Given the description of an element on the screen output the (x, y) to click on. 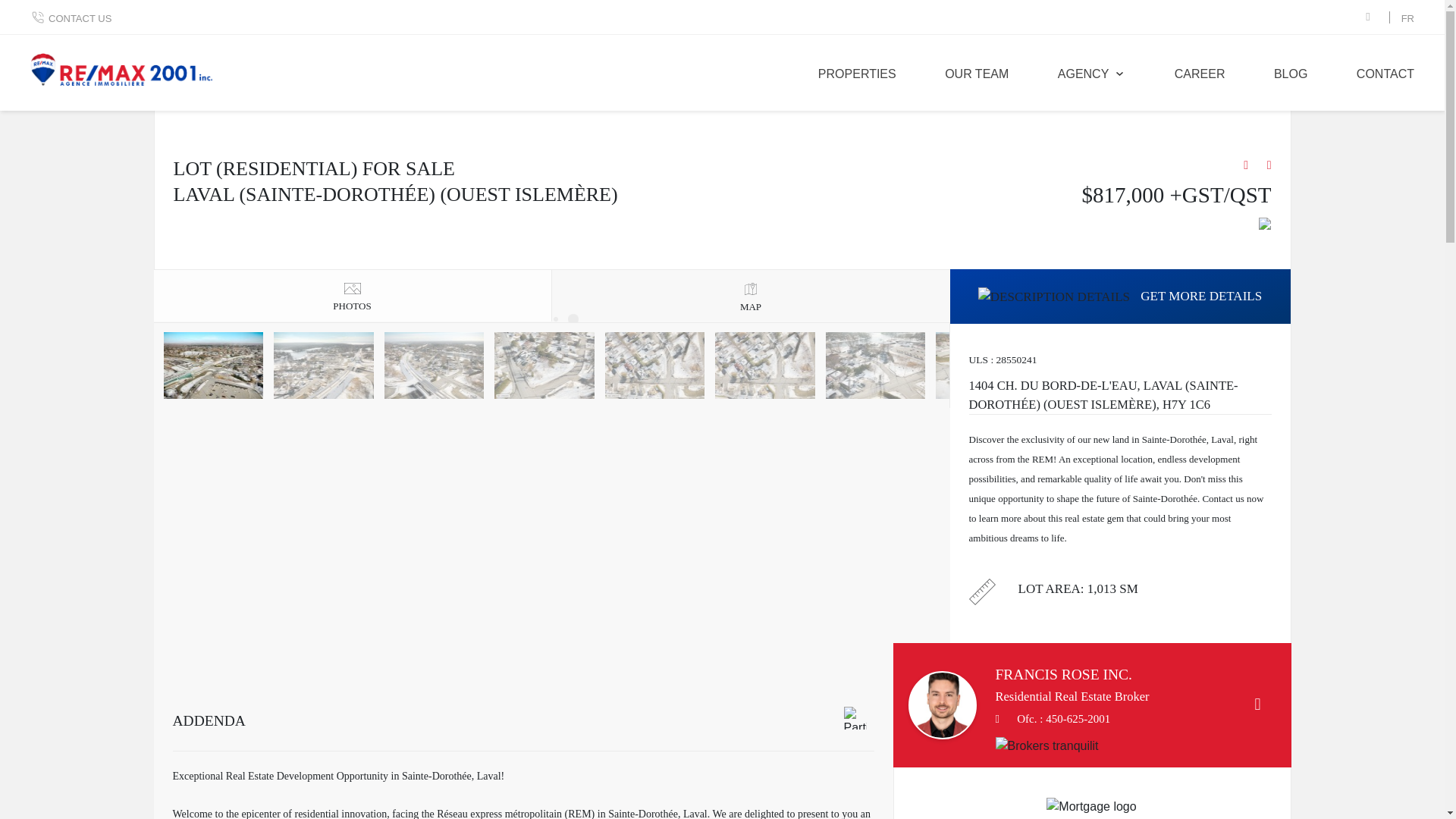
CONTACT US (71, 18)
GET MORE DETAILS (1119, 296)
OUR TEAM (976, 72)
AGENCY (1091, 72)
CAREER (1199, 72)
FR (1406, 18)
PROPERTIES (857, 72)
CONTACT (1384, 72)
